Given the description of an element on the screen output the (x, y) to click on. 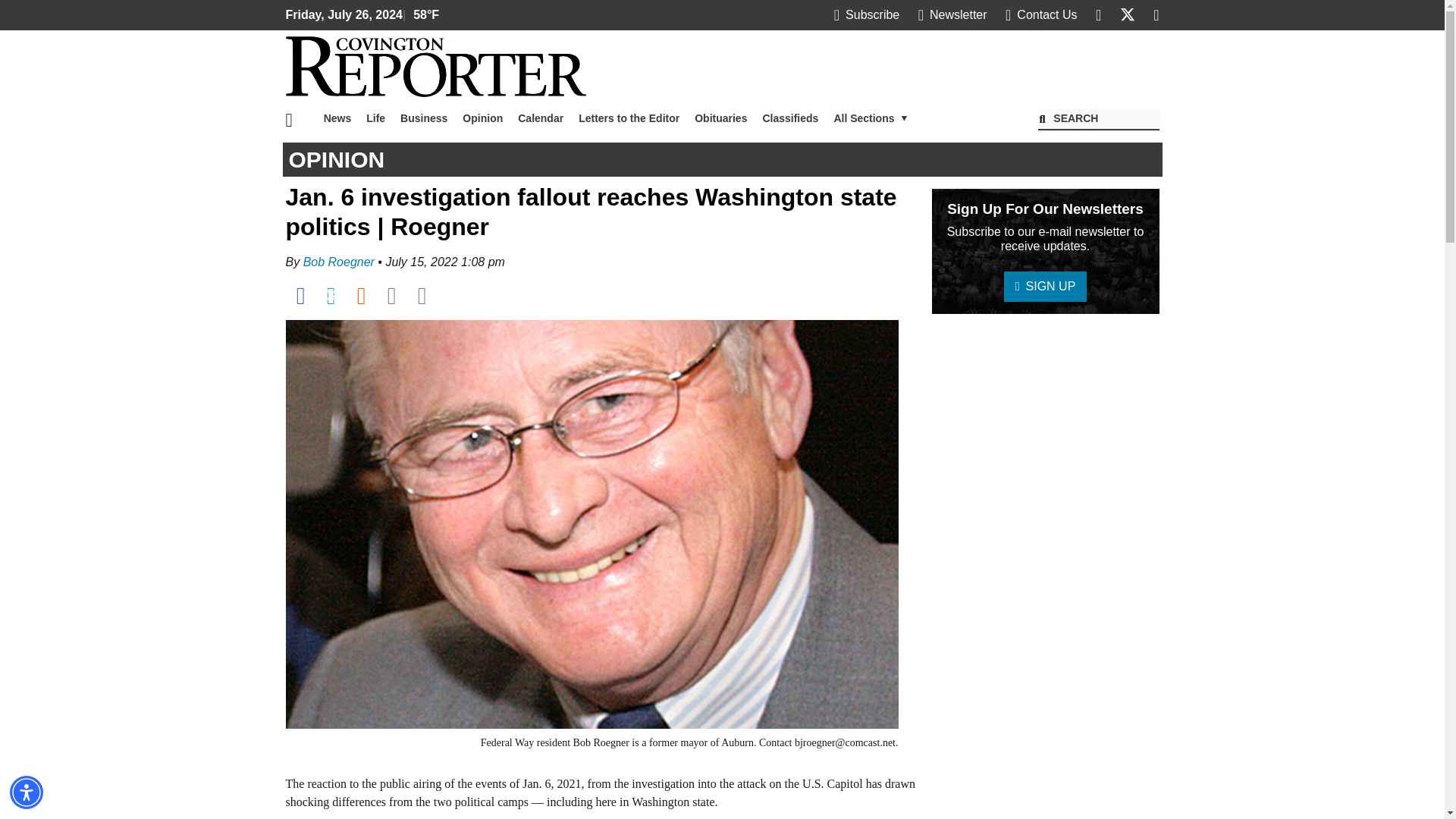
Classifieds (789, 118)
Opinion (482, 118)
All Sections (870, 118)
Print story (421, 295)
Newsletter (952, 14)
Obituaries (720, 118)
Life (375, 118)
Post to Facebook (300, 295)
Email story (390, 295)
Post to Twitter (330, 295)
Contact Us (1041, 14)
Find Us On Twitter (1127, 14)
Business (423, 118)
Accessibility Menu (26, 792)
Subscribe (866, 14)
